Given the description of an element on the screen output the (x, y) to click on. 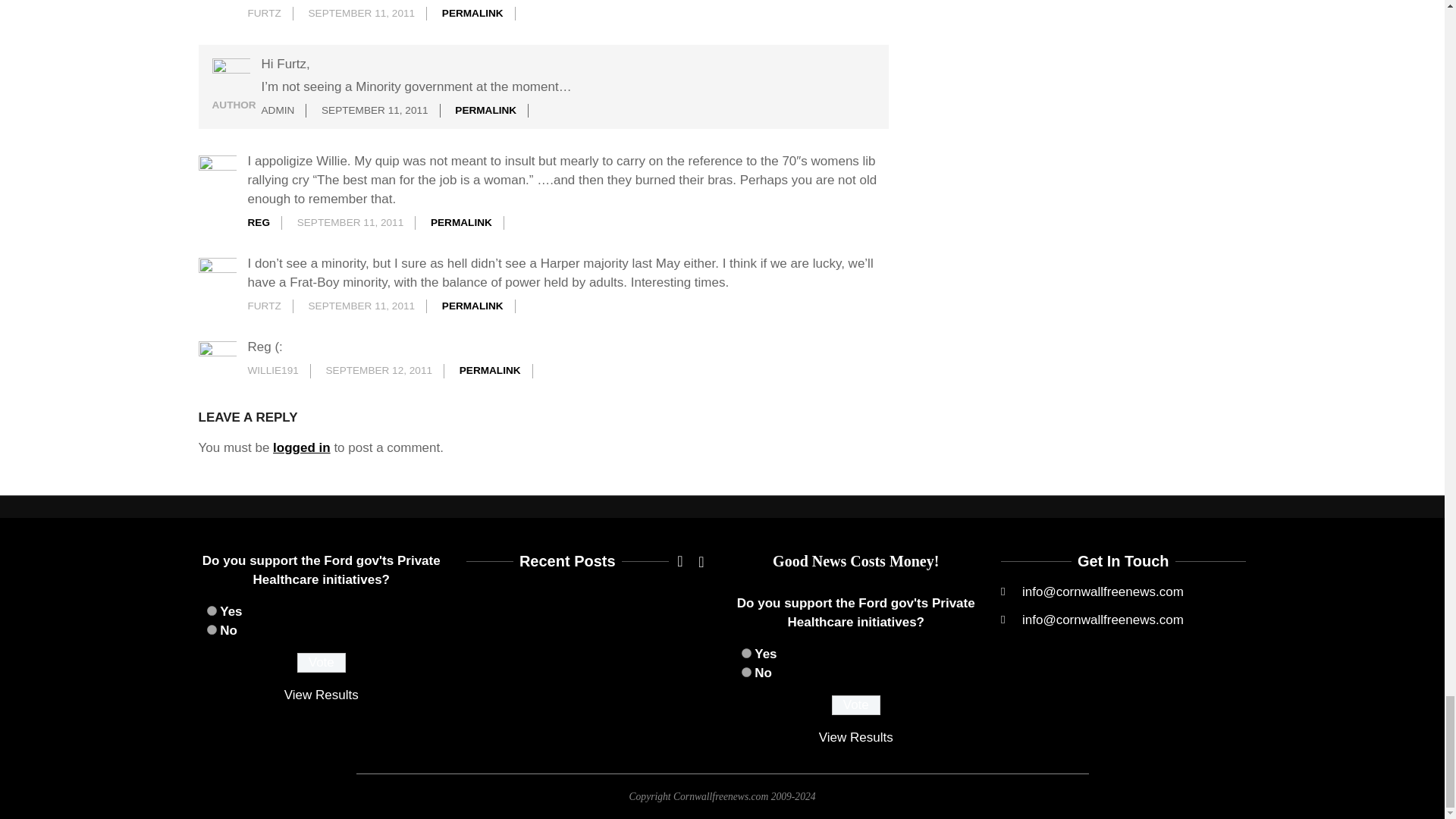
1776 (746, 653)
1777 (210, 629)
   Vote    (321, 662)
1777 (746, 672)
1776 (210, 610)
   Vote    (855, 704)
